Given the description of an element on the screen output the (x, y) to click on. 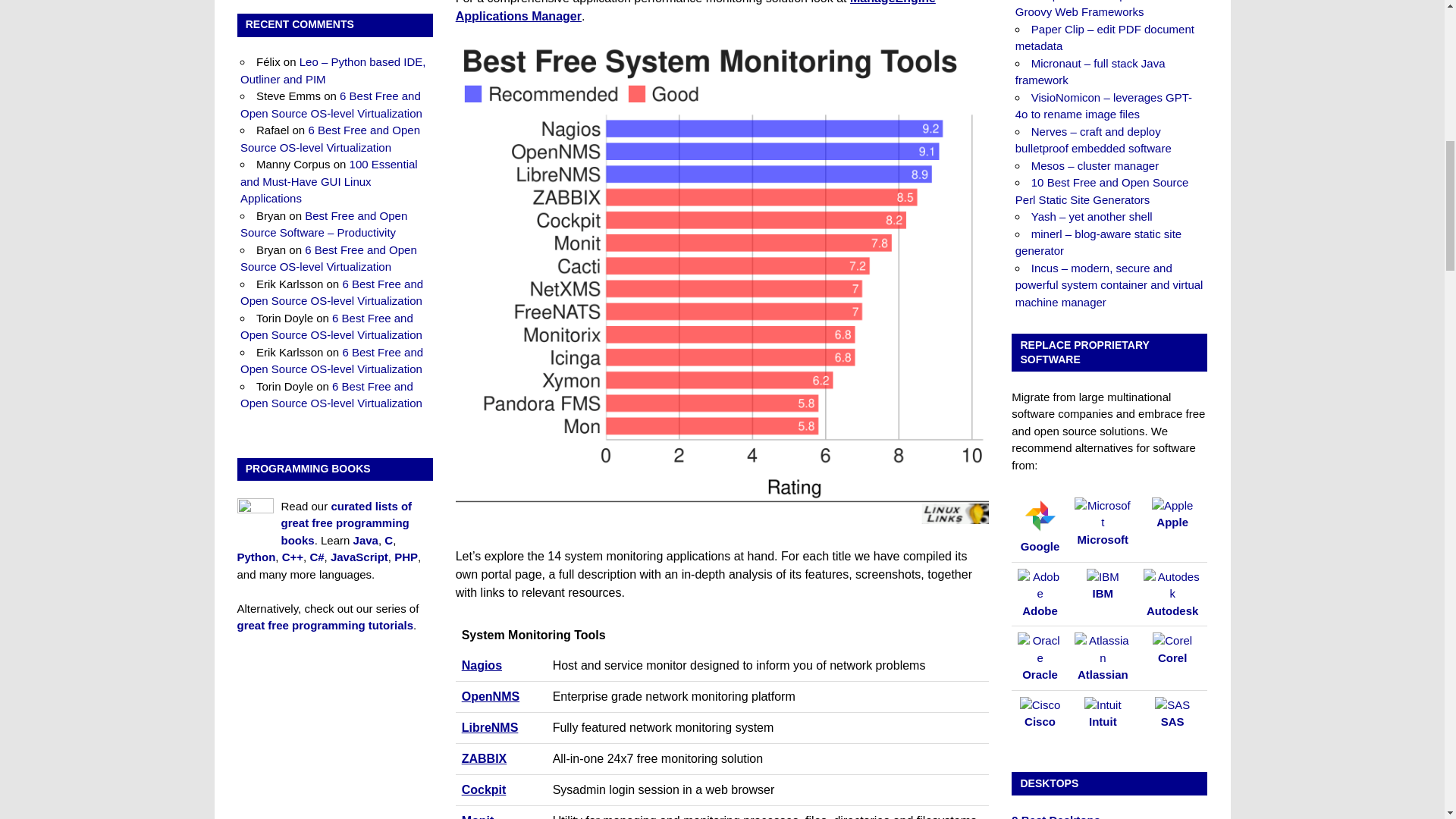
Nagios (481, 665)
LibreNMS (489, 727)
ZABBIX (483, 758)
ManageEngine Applications Manager (695, 11)
Cockpit (483, 789)
OpenNMS (490, 696)
Monit (478, 816)
